Given the description of an element on the screen output the (x, y) to click on. 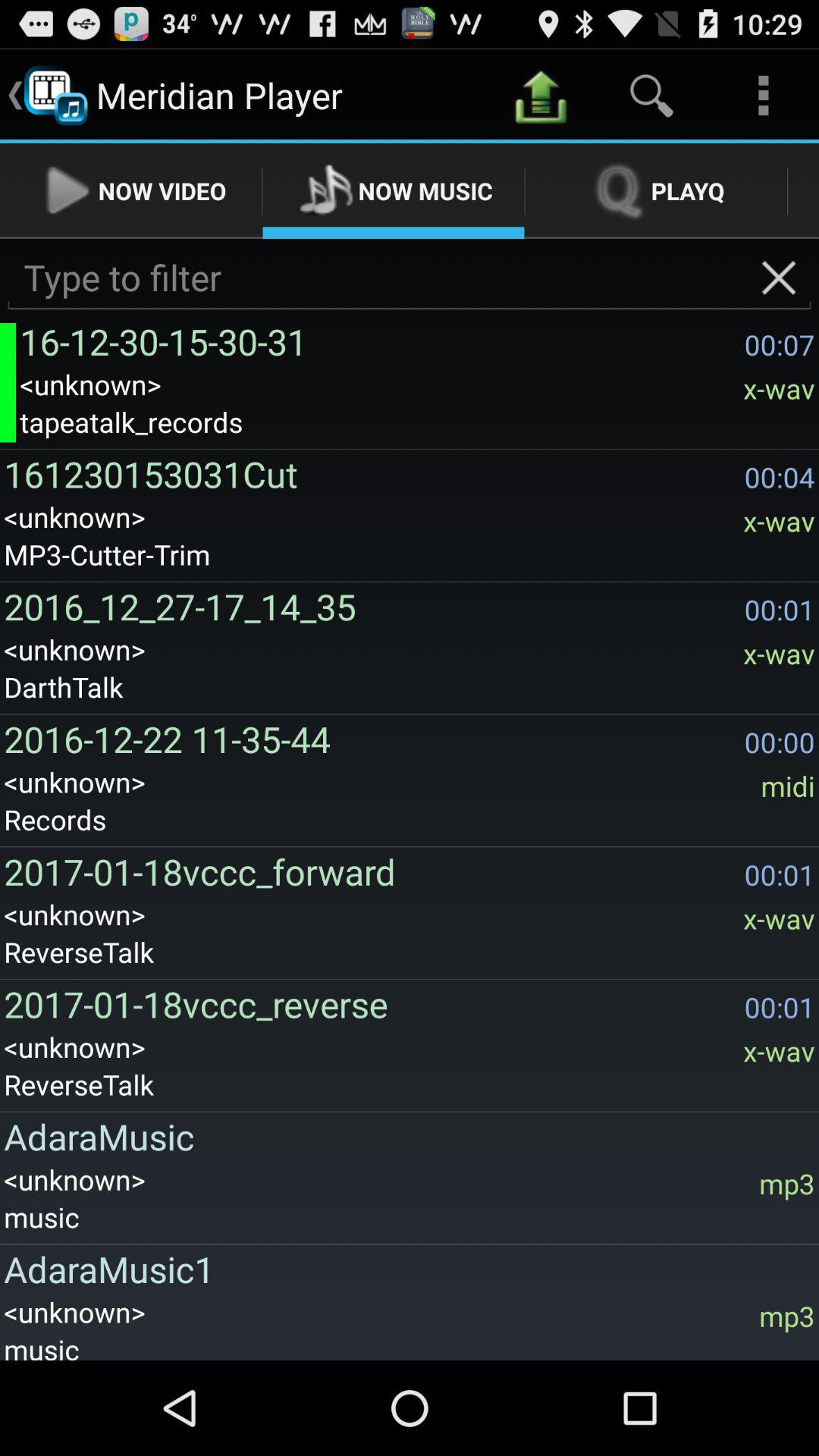
launch adaramusic1 (405, 1268)
